Given the description of an element on the screen output the (x, y) to click on. 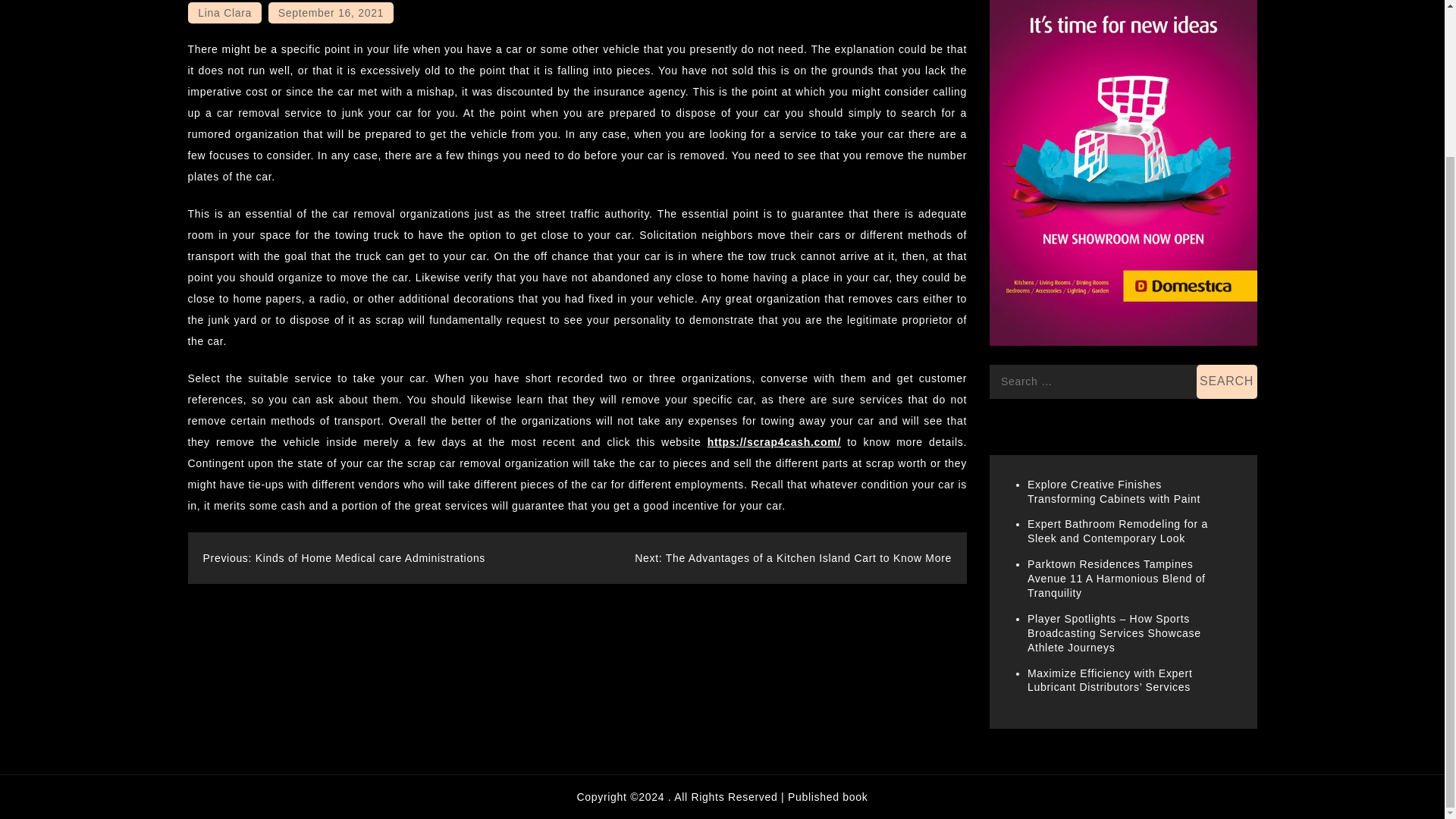
Next: The Advantages of a Kitchen Island Cart to Know More (793, 558)
Previous: Kinds of Home Medical care Administrations (344, 558)
Search (1226, 381)
Lina Clara (224, 12)
Search (1226, 381)
Explore Creative Finishes Transforming Cabinets with Paint (1113, 491)
September 16, 2021 (330, 12)
Expert Bathroom Remodeling for a Sleek and Contemporary Look (1117, 530)
Search (1226, 381)
